Given the description of an element on the screen output the (x, y) to click on. 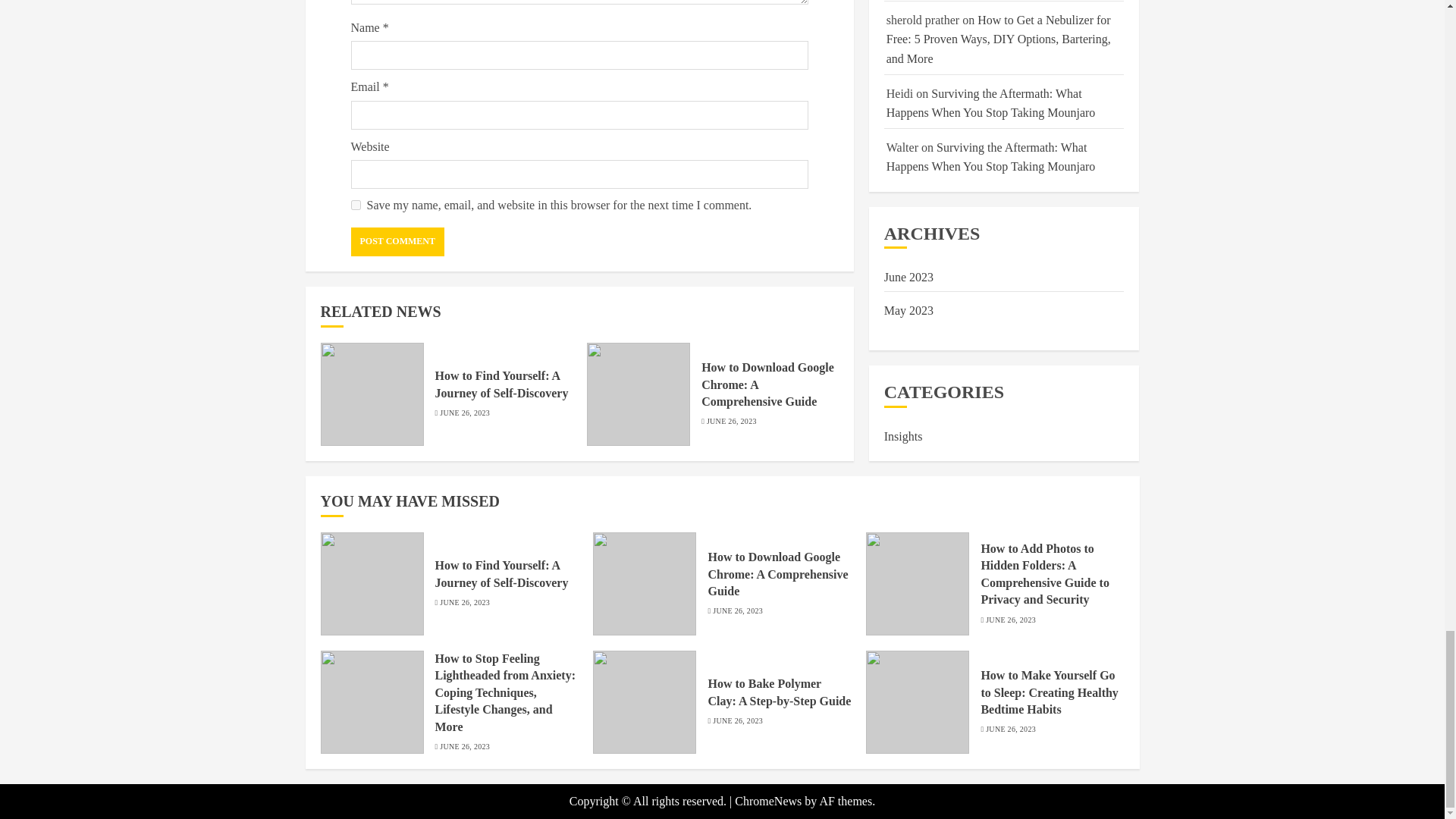
yes (354, 204)
JUNE 26, 2023 (731, 421)
How to Download Google Chrome: A Comprehensive Guide (638, 394)
How to Find Yourself: A Journey of Self-Discovery (502, 384)
How to Download Google Chrome: A Comprehensive Guide (767, 384)
Post Comment (397, 241)
JUNE 26, 2023 (464, 412)
How to Find Yourself: A Journey of Self-Discovery (371, 394)
Post Comment (397, 241)
